Given the description of an element on the screen output the (x, y) to click on. 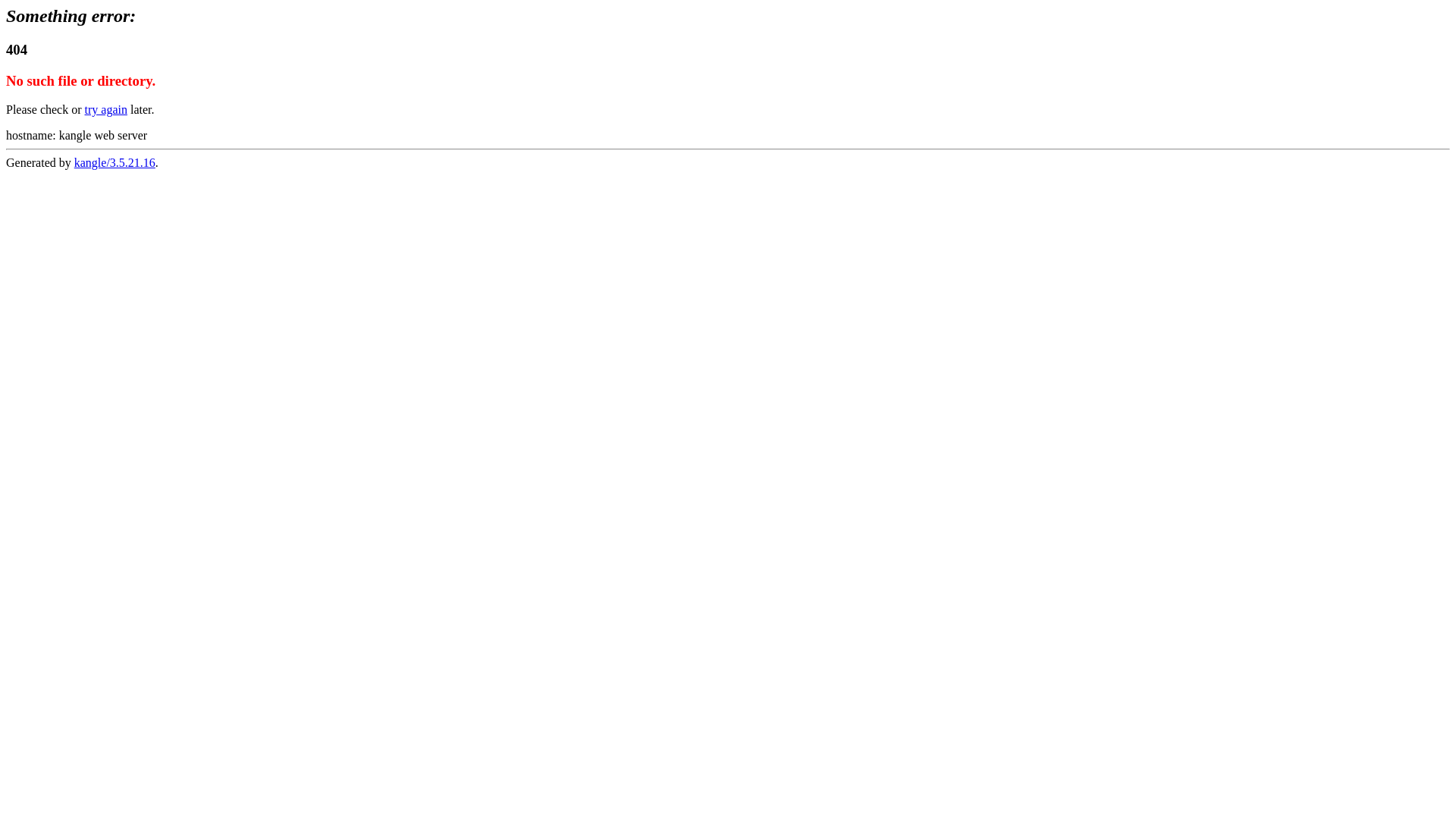
try again Element type: text (105, 109)
kangle/3.5.21.16 Element type: text (114, 162)
